Given the description of an element on the screen output the (x, y) to click on. 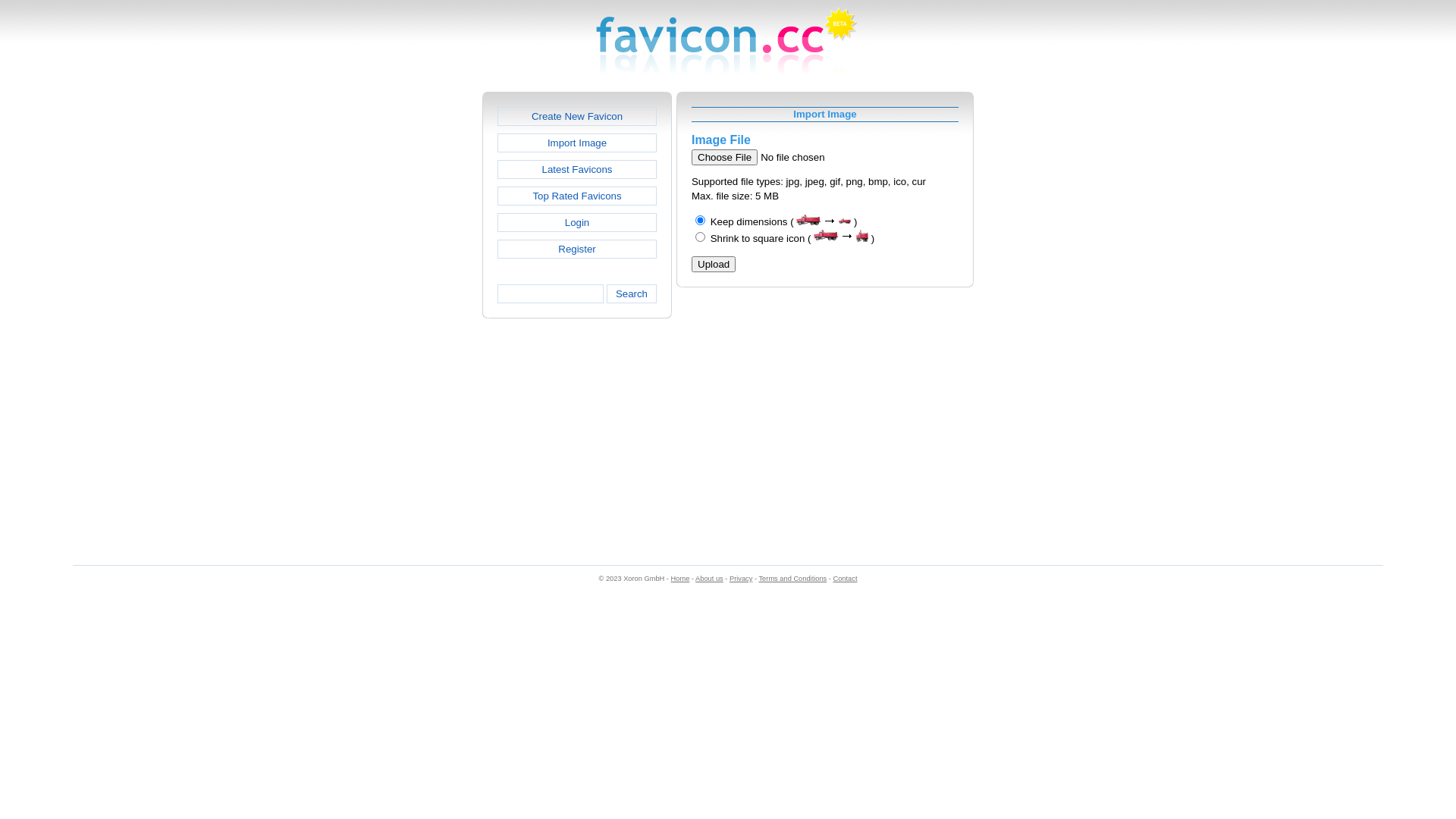
Top Rated Favicons Element type: text (576, 195)
Privacy Element type: text (740, 578)
Register Element type: text (576, 248)
Terms and Conditions Element type: text (792, 578)
Upload Element type: text (713, 264)
Login Element type: text (576, 222)
Advertisement Element type: hover (416, 318)
Contact Element type: text (844, 578)
Import Image Element type: text (576, 142)
Home Element type: text (680, 578)
Advertisement Element type: hover (1038, 318)
Latest Favicons Element type: text (576, 169)
Search Element type: text (631, 293)
About us Element type: text (709, 578)
Create New Favicon Element type: text (576, 115)
